Given the description of an element on the screen output the (x, y) to click on. 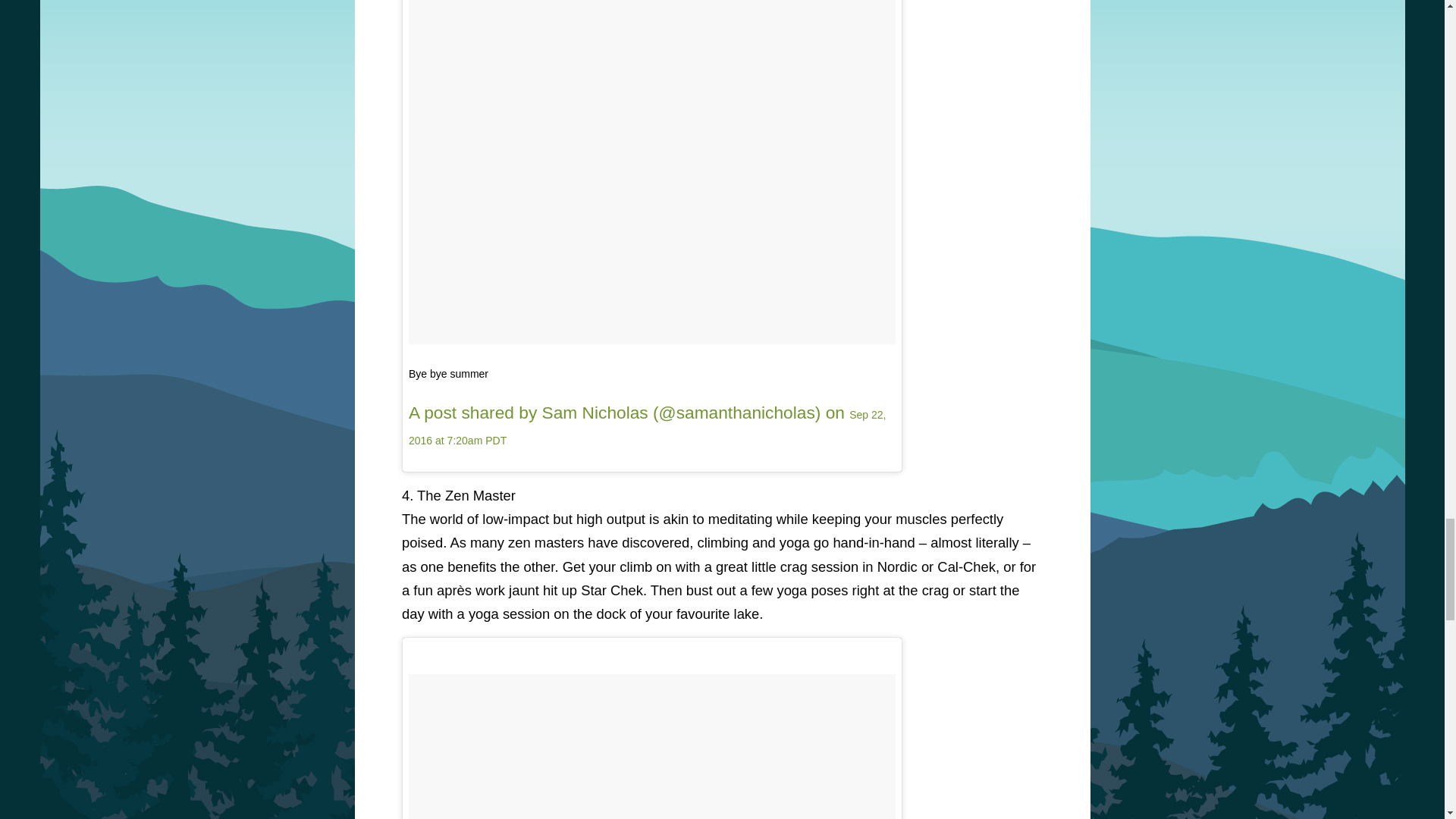
Bye bye summer (448, 373)
